Given the description of an element on the screen output the (x, y) to click on. 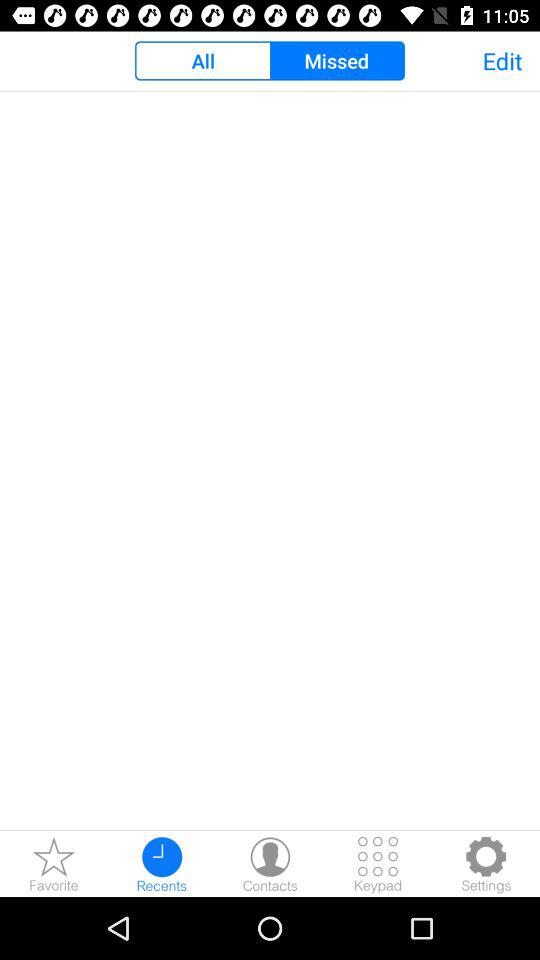
show contacts (269, 864)
